Given the description of an element on the screen output the (x, y) to click on. 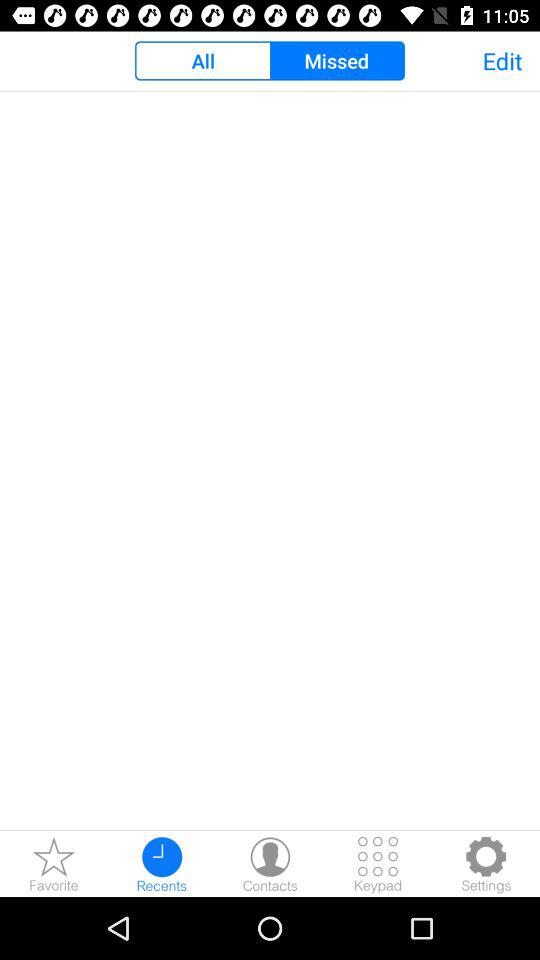
show contacts (269, 864)
